Given the description of an element on the screen output the (x, y) to click on. 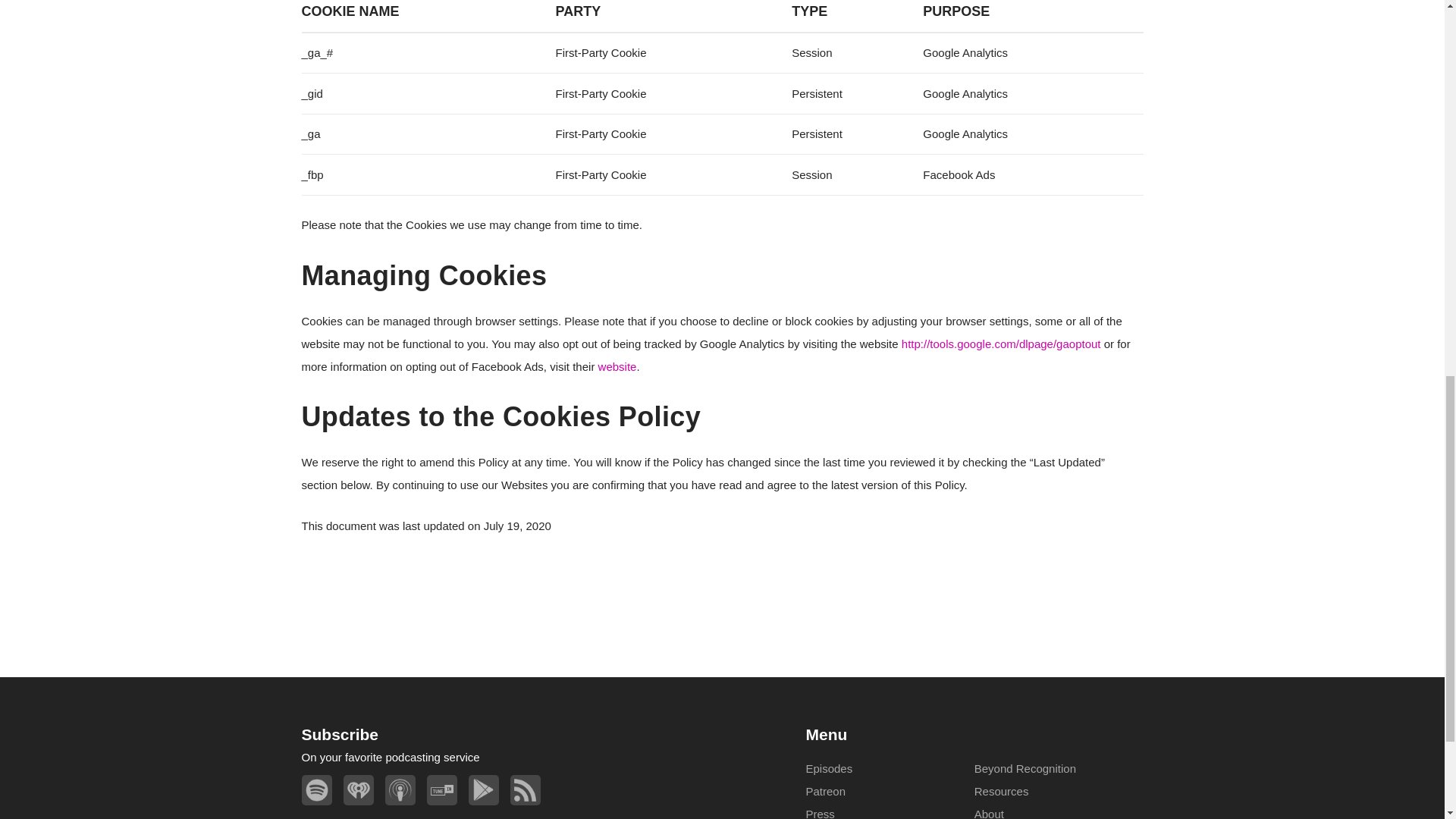
website (617, 366)
Resources (1001, 790)
About (989, 813)
Press (819, 813)
Patreon (825, 790)
Beyond Recognition (1024, 768)
Episodes (828, 768)
